Given the description of an element on the screen output the (x, y) to click on. 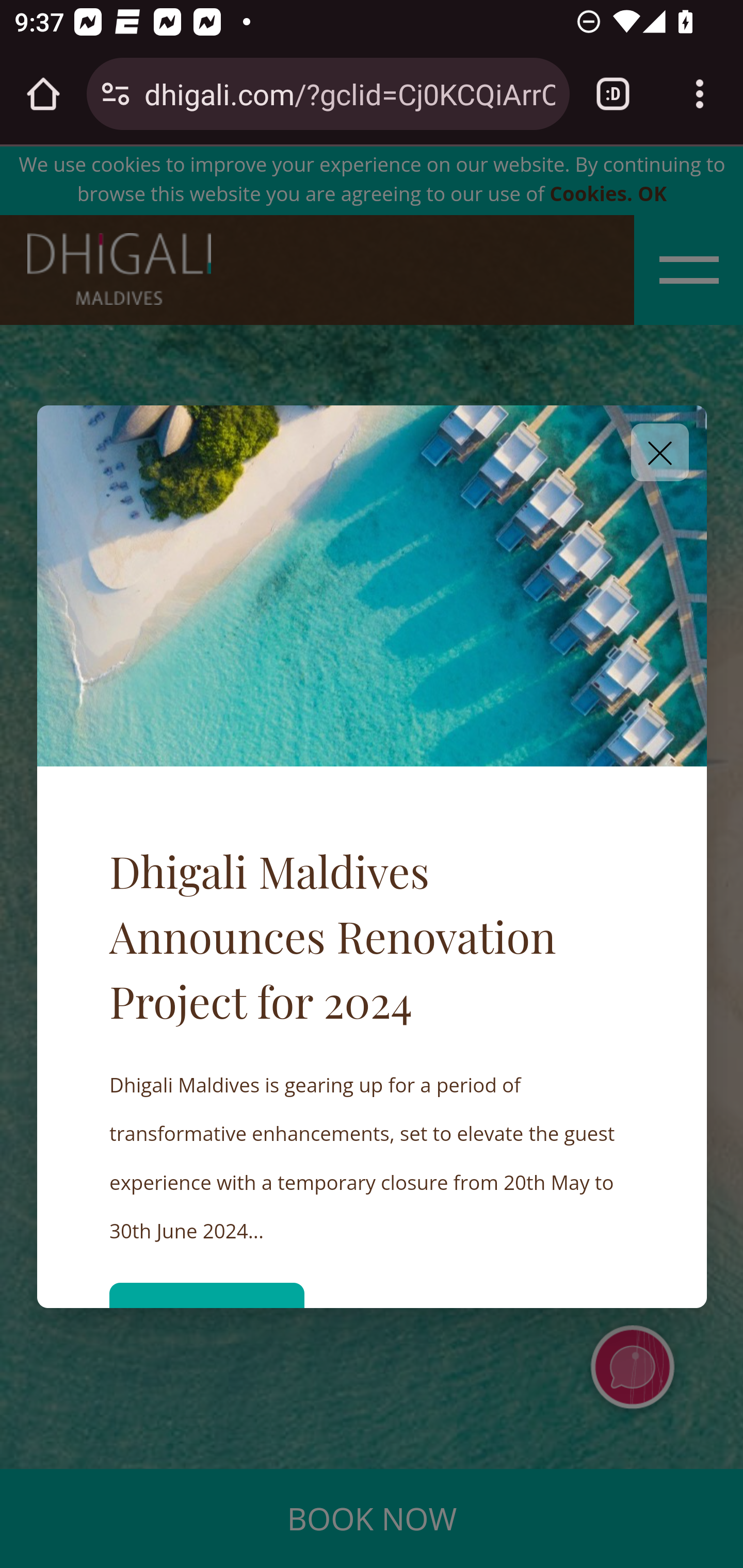
Open the home page (43, 93)
Connection is secure (115, 93)
Switch or close tabs (612, 93)
Customize and control Google Chrome (699, 93)
